Given the description of an element on the screen output the (x, y) to click on. 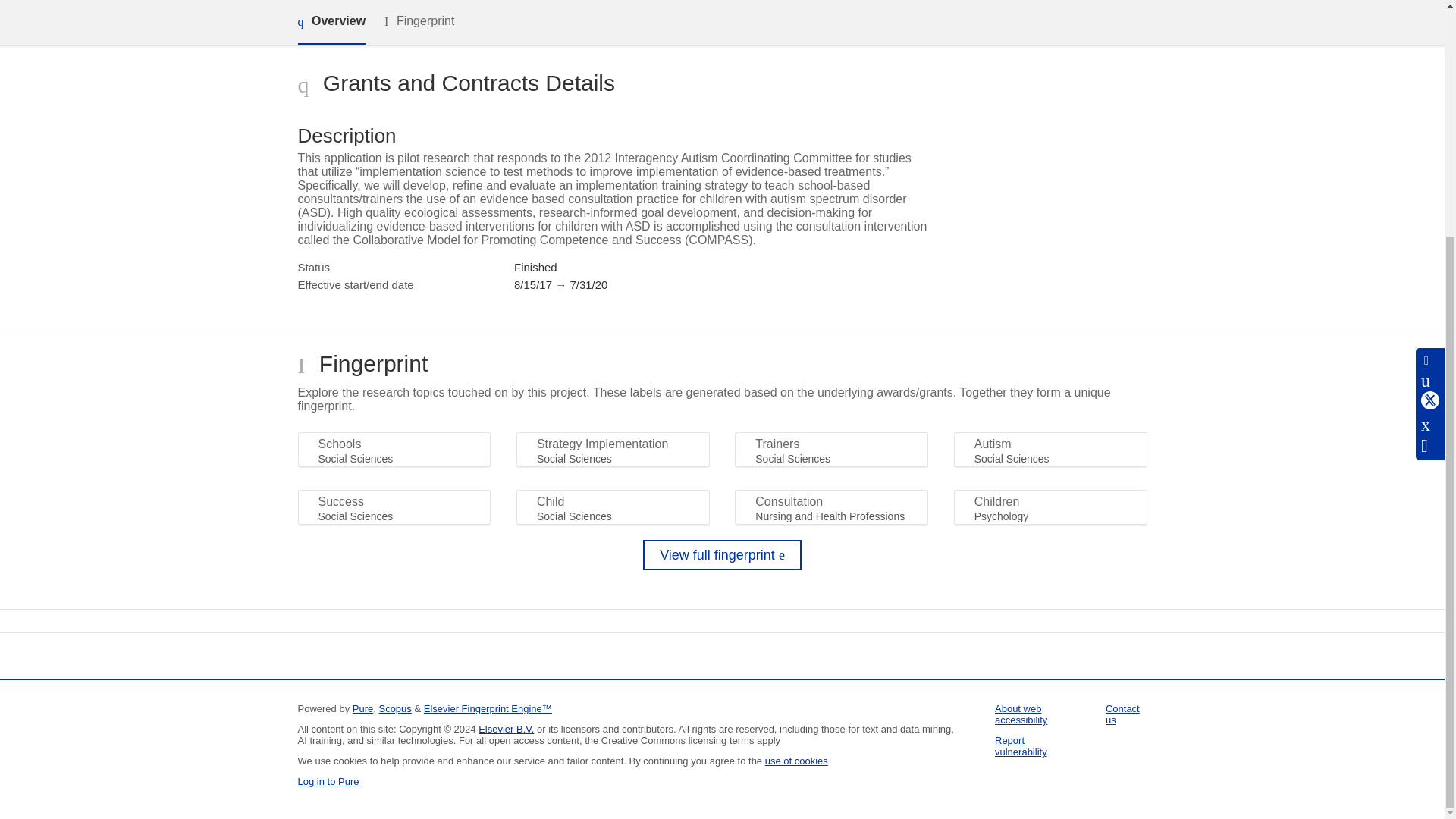
use of cookies (796, 760)
Scopus (394, 708)
Log in to Pure (327, 781)
Fingerprint (419, 21)
Pure (362, 708)
Overview (331, 22)
About web accessibility (1020, 713)
Elsevier B.V. (506, 728)
View full fingerprint (722, 554)
